Given the description of an element on the screen output the (x, y) to click on. 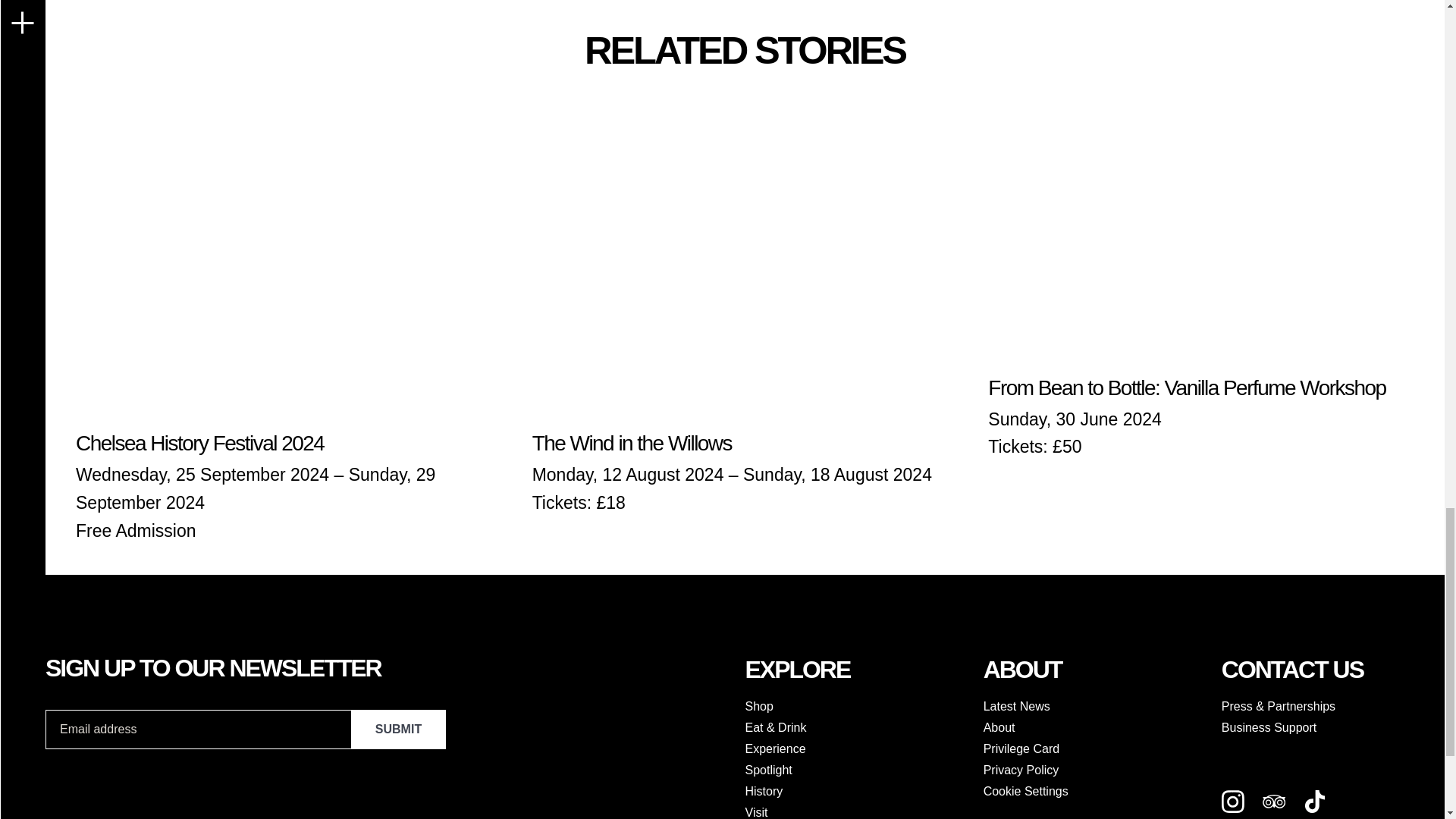
Spotlight (856, 770)
SUBMIT (397, 729)
Shop (856, 706)
Latest News (1095, 706)
History (856, 791)
Experience (856, 749)
About (1095, 727)
Visit (856, 810)
